Given the description of an element on the screen output the (x, y) to click on. 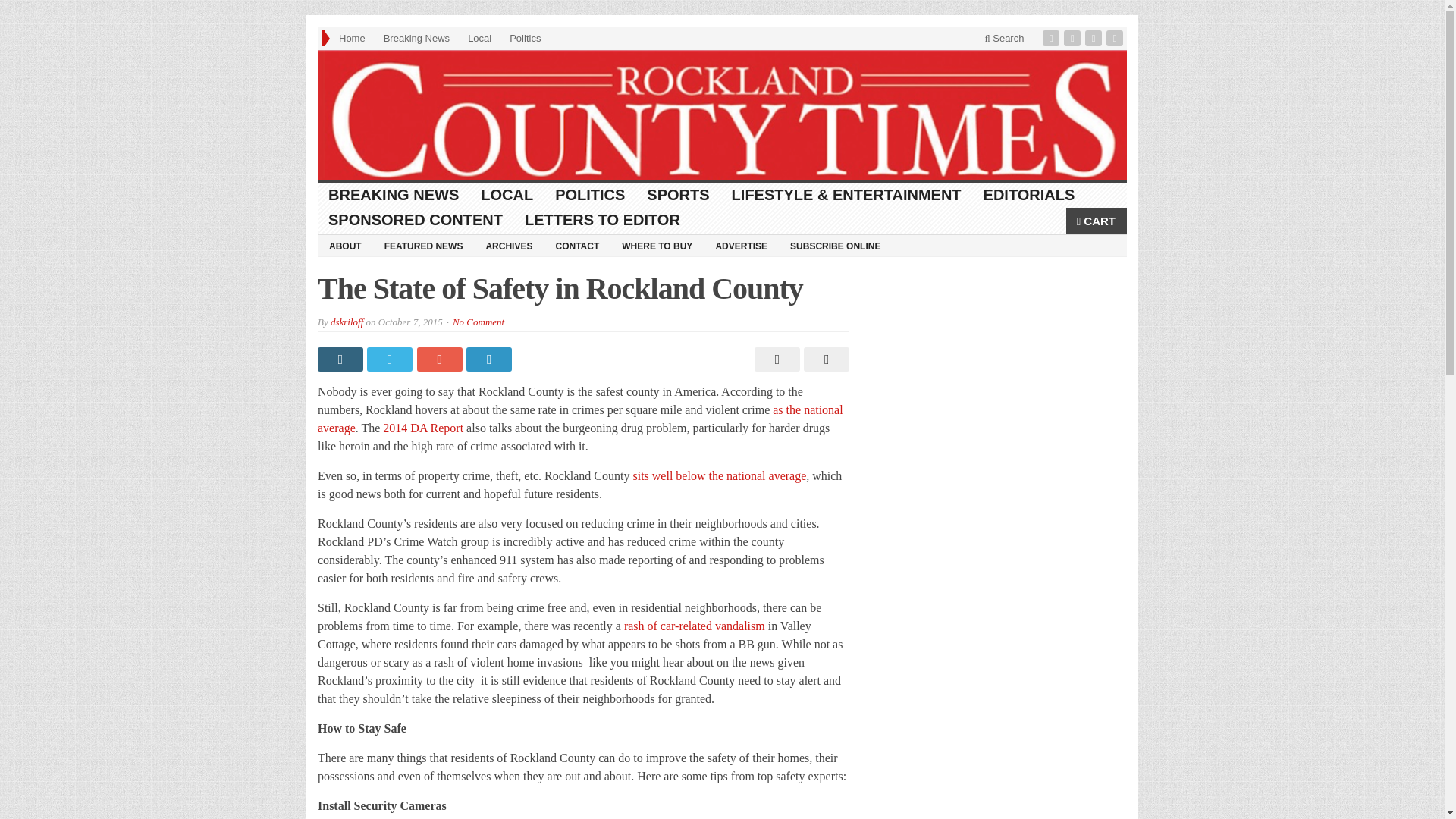
SUBSCRIBE ONLINE (834, 245)
Breaking News (416, 37)
as the national average (580, 418)
No Comment (477, 321)
SPORTS (678, 195)
Search (1003, 37)
BREAKING NEWS (393, 195)
POLITICS (590, 195)
Politics (525, 37)
CONTACT (576, 245)
